Given the description of an element on the screen output the (x, y) to click on. 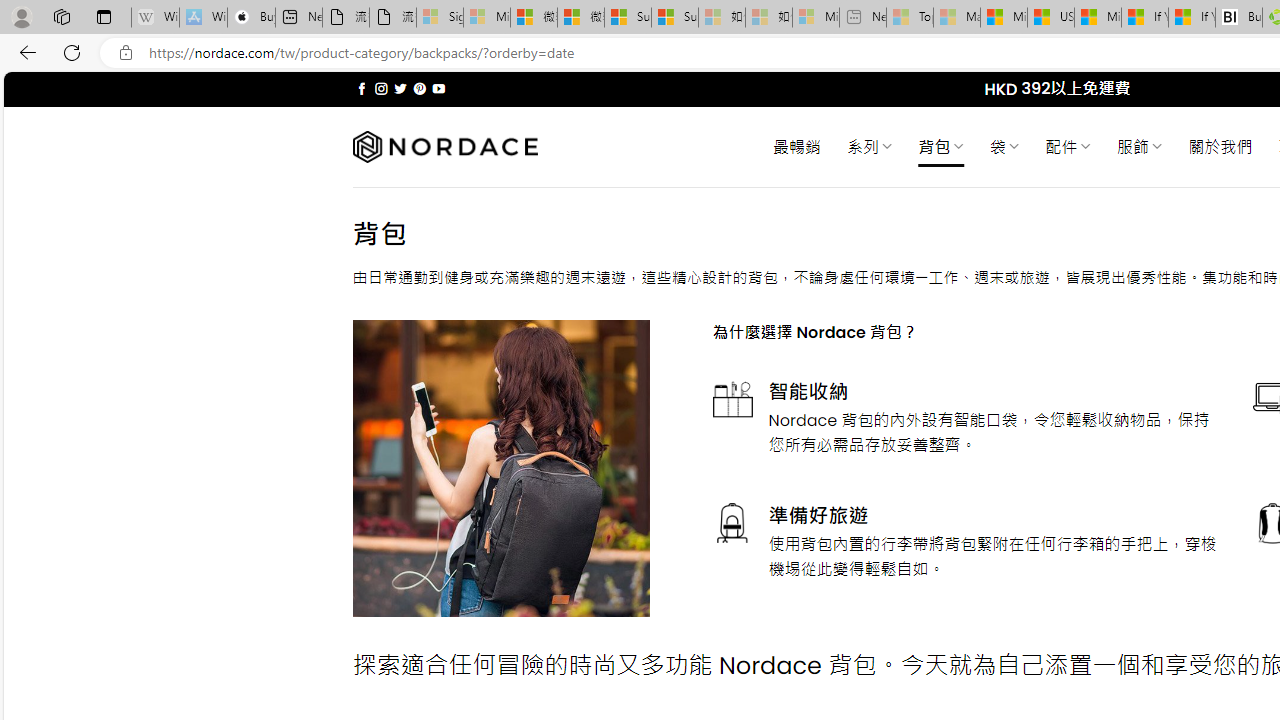
Follow on Pinterest (419, 88)
Marine life - MSN - Sleeping (957, 17)
Sign in to your Microsoft account - Sleeping (440, 17)
